Given the description of an element on the screen output the (x, y) to click on. 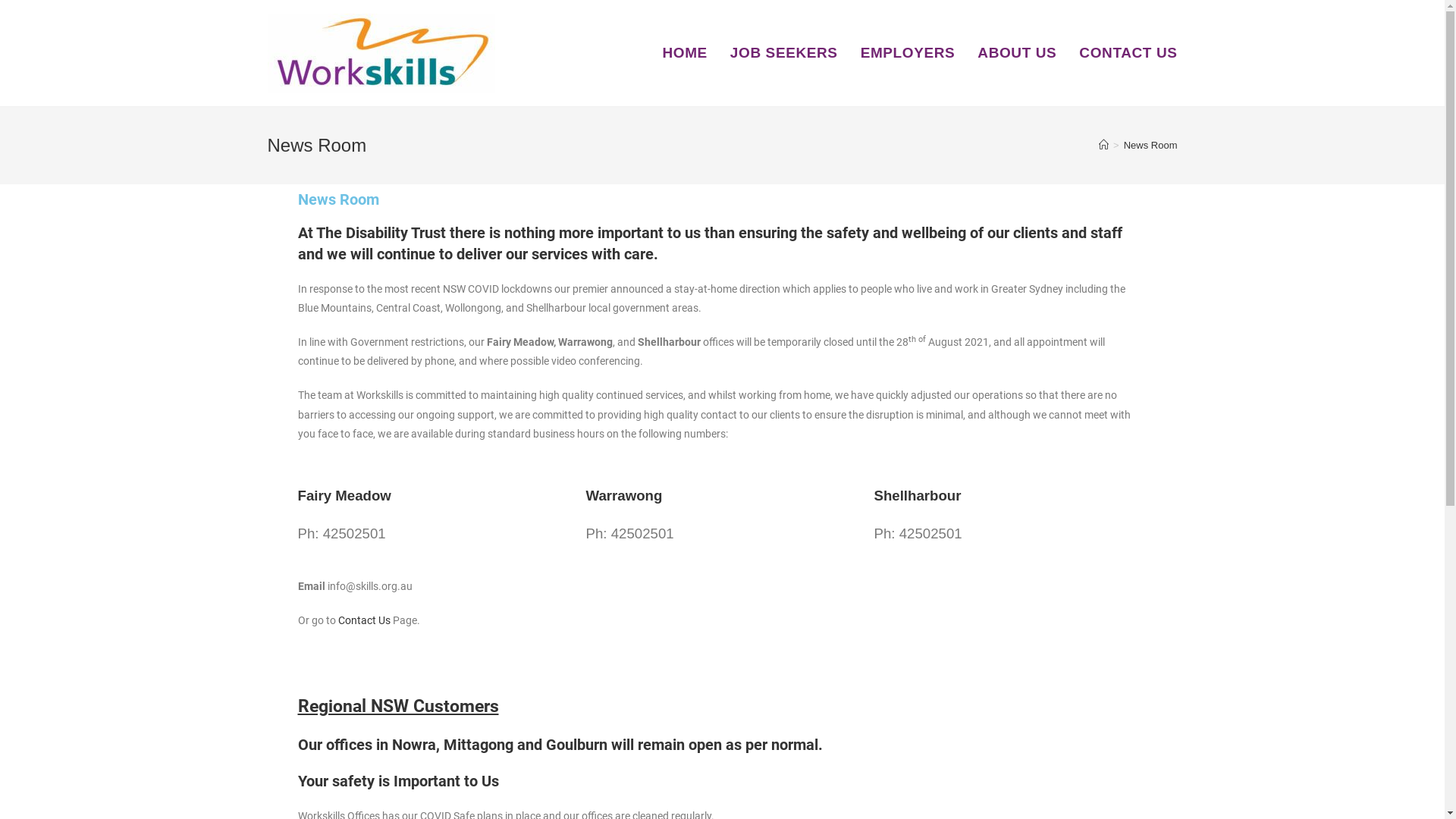
About Us Element type: text (1036, 801)
Employers Element type: text (986, 801)
Home Element type: text (882, 801)
CONTACT US Element type: text (1127, 53)
HOME Element type: text (684, 53)
News Room Element type: text (1150, 144)
ABOUT US Element type: text (1016, 53)
EMPLOYERS Element type: text (907, 53)
Privacy Policy Element type: text (1093, 801)
JOB SEEKERS Element type: text (783, 53)
Contact Us Element type: text (364, 620)
Job Seekers Element type: text (929, 801)
Contact Us Element type: text (1154, 801)
